Given the description of an element on the screen output the (x, y) to click on. 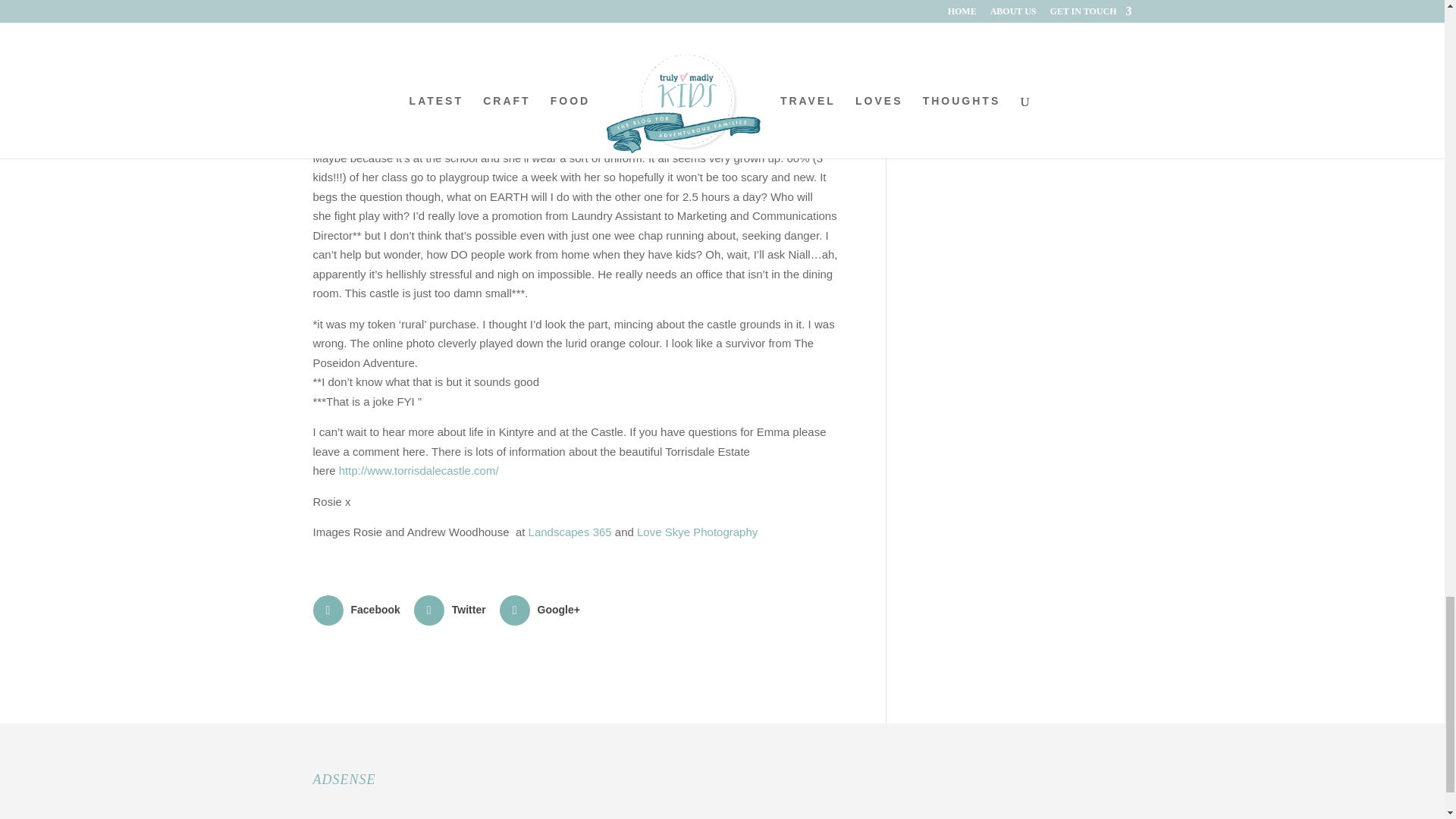
Landscapes 365 (569, 531)
Love Skye Photography (697, 531)
Love Skye Photography (697, 531)
Landscapes 365 (569, 531)
Torrisdale Castle (419, 470)
Facebook (358, 610)
